Given the description of an element on the screen output the (x, y) to click on. 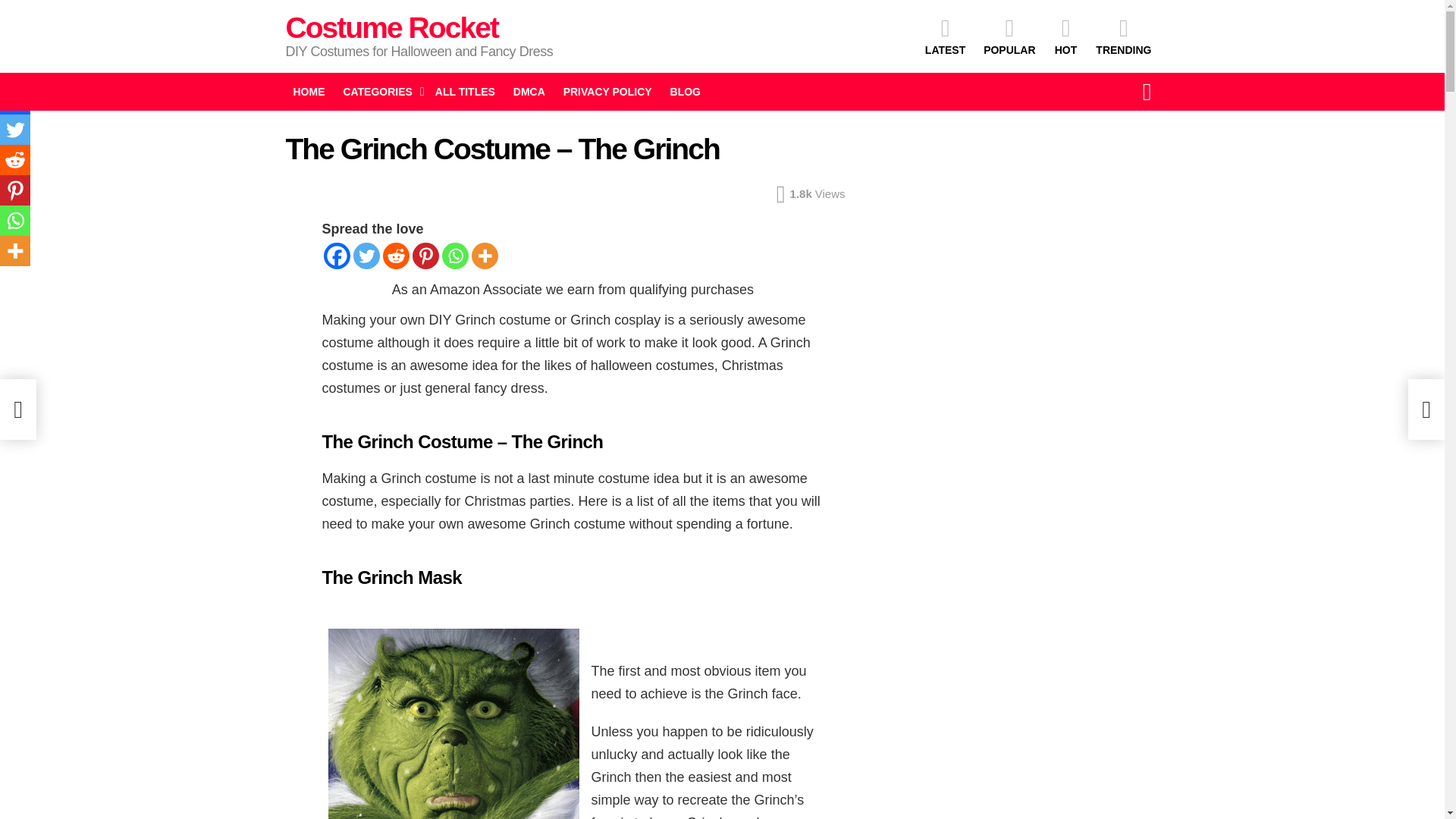
Reddit (15, 159)
HOME (308, 91)
Facebook (336, 255)
TRENDING (1122, 35)
DMCA (529, 91)
Pinterest (15, 190)
BLOG (684, 91)
PRIVACY POLICY (607, 91)
Whatsapp (454, 255)
POPULAR (1008, 35)
HOT (1064, 35)
Reddit (395, 255)
More (15, 250)
Twitter (15, 129)
ALL TITLES (465, 91)
